Given the description of an element on the screen output the (x, y) to click on. 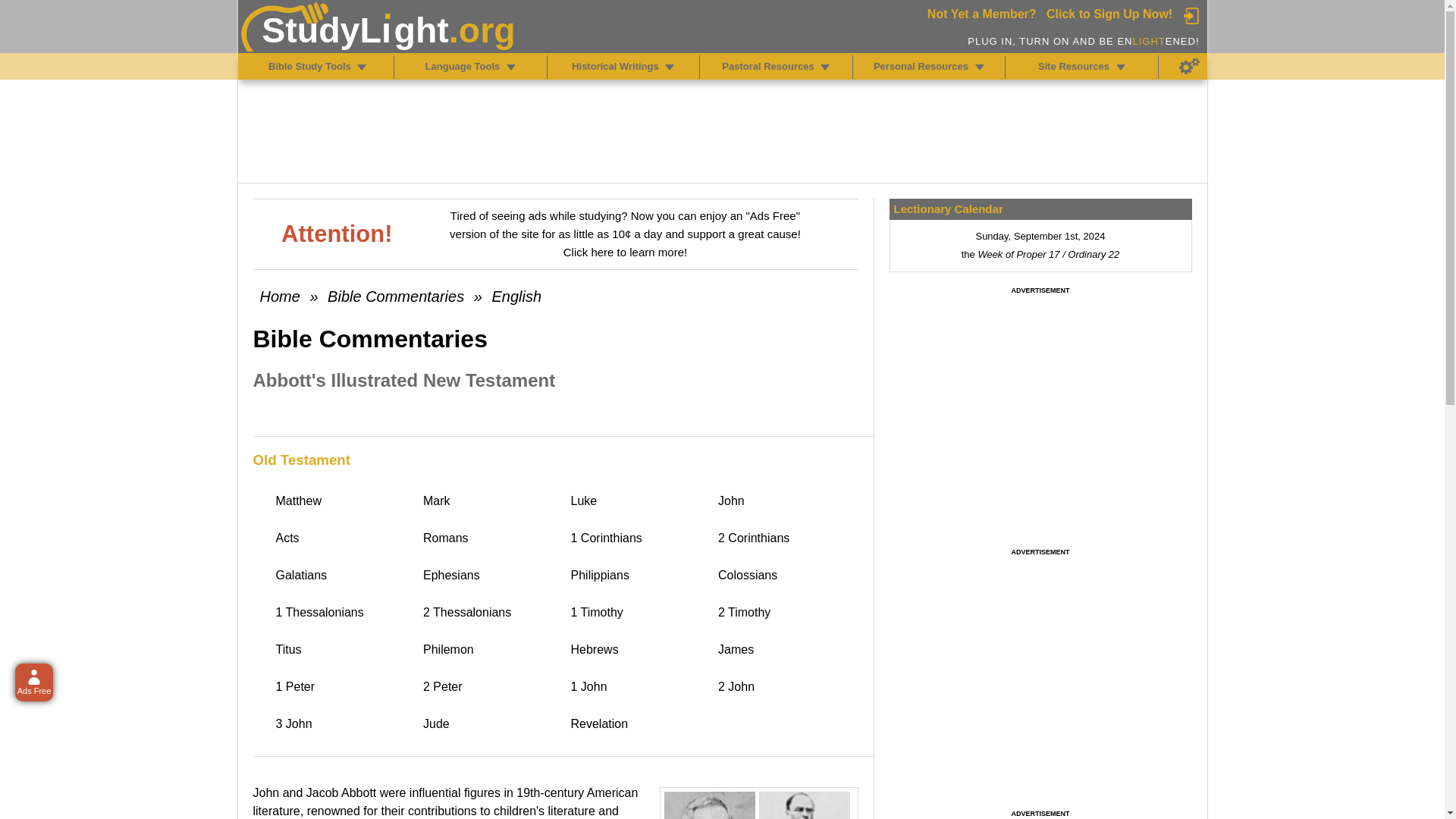
Acts (342, 538)
Historical Writings (669, 67)
Luke (636, 500)
Galatians (342, 575)
1 Thessalonians (342, 612)
2 Corinthians (783, 538)
Bible Commentaries (395, 296)
2 Timothy (783, 612)
Mark (489, 500)
Personal Resources (979, 67)
